Given the description of an element on the screen output the (x, y) to click on. 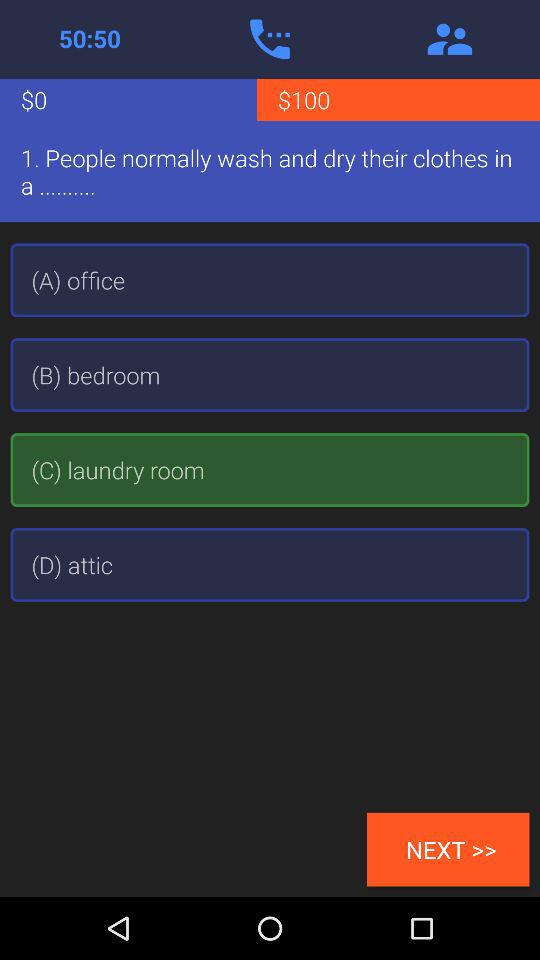
button for connecting phone (270, 39)
